Given the description of an element on the screen output the (x, y) to click on. 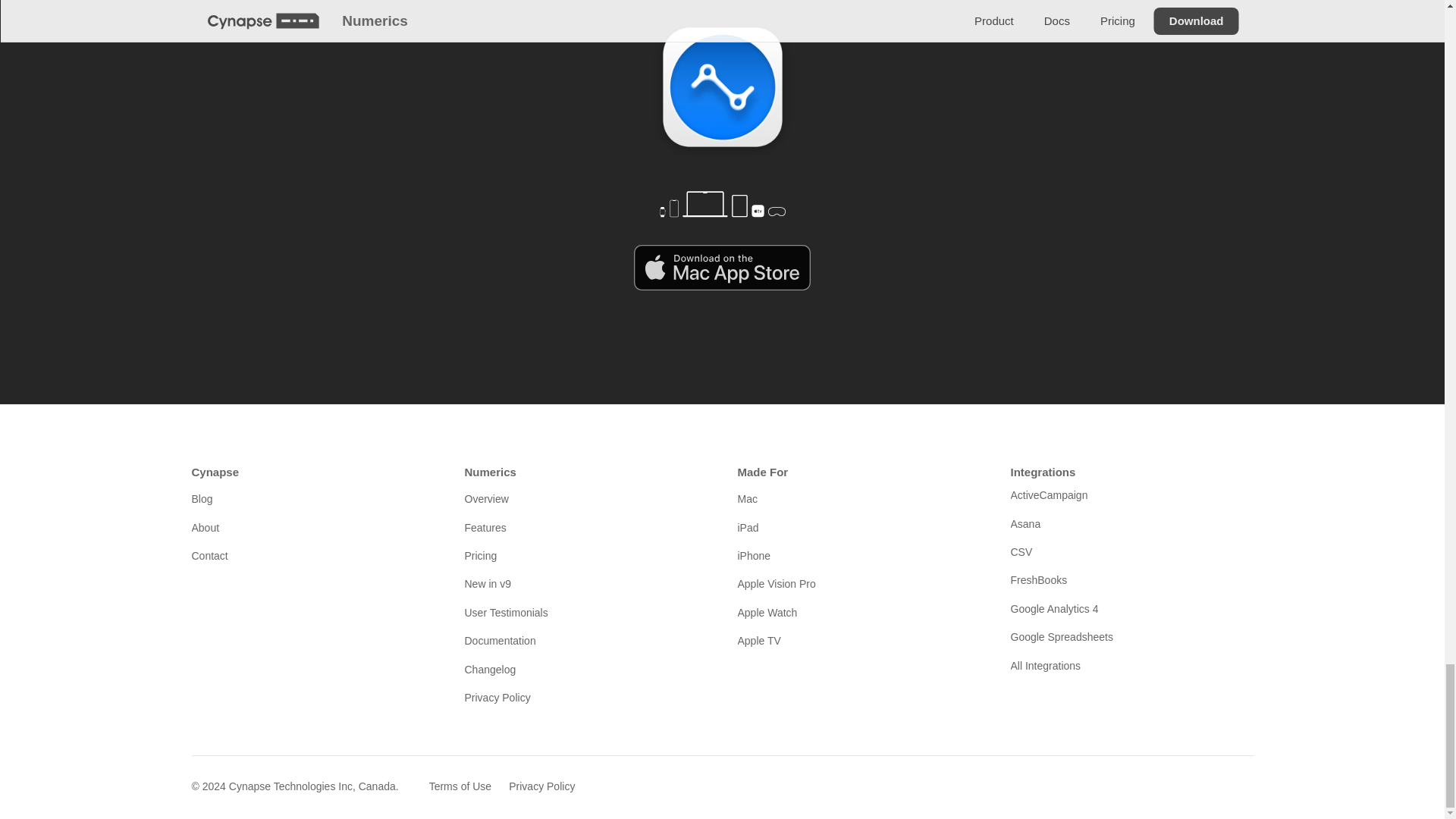
Blog (311, 498)
Pricing (585, 555)
Overview (585, 498)
Contact (311, 555)
About (311, 527)
New in v9 (585, 583)
Features (585, 527)
